Given the description of an element on the screen output the (x, y) to click on. 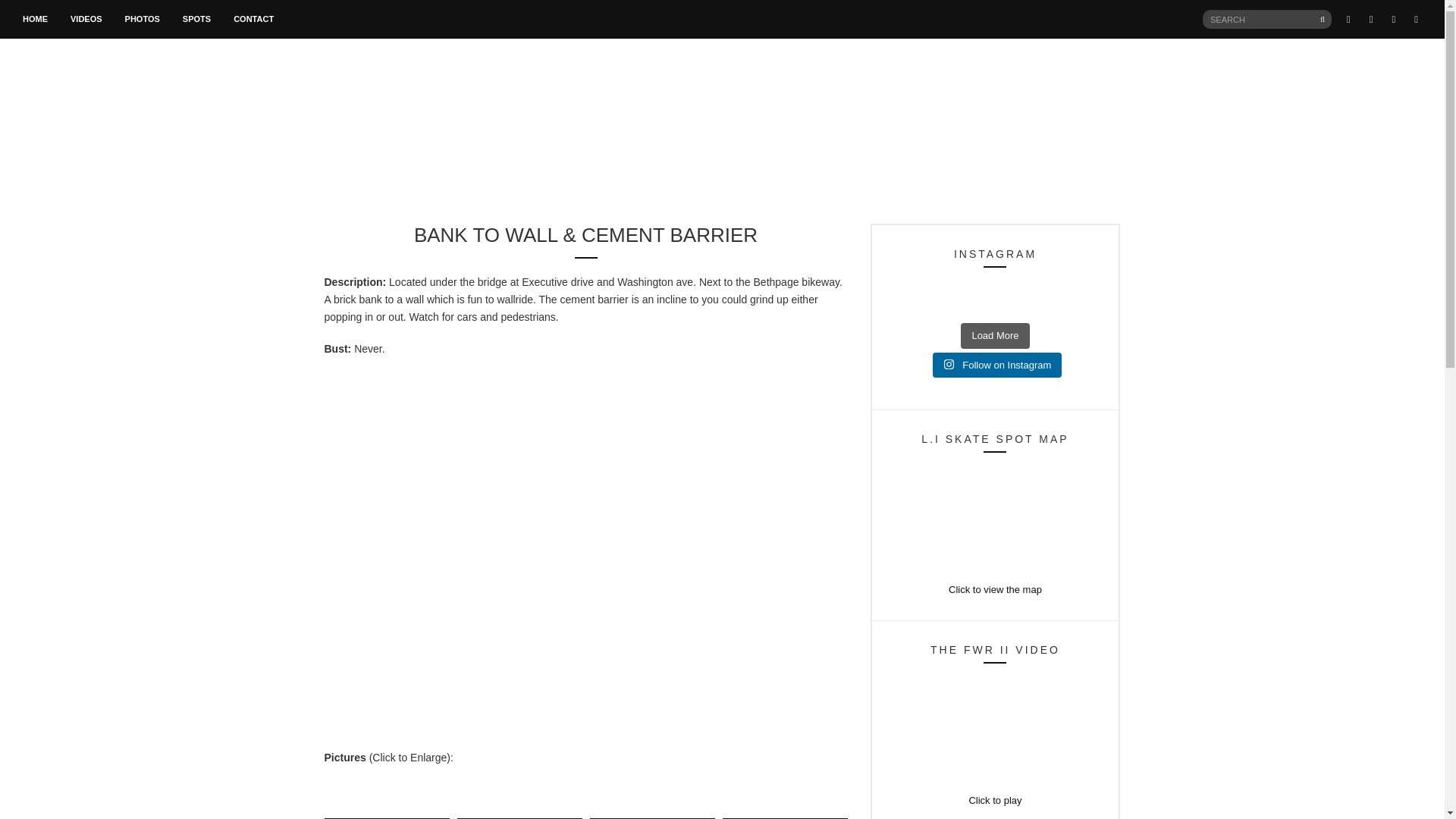
PHOTOS (142, 19)
CONTACT (252, 19)
SPOTS (197, 19)
VIDEOS (85, 19)
HOME (35, 19)
